Given the description of an element on the screen output the (x, y) to click on. 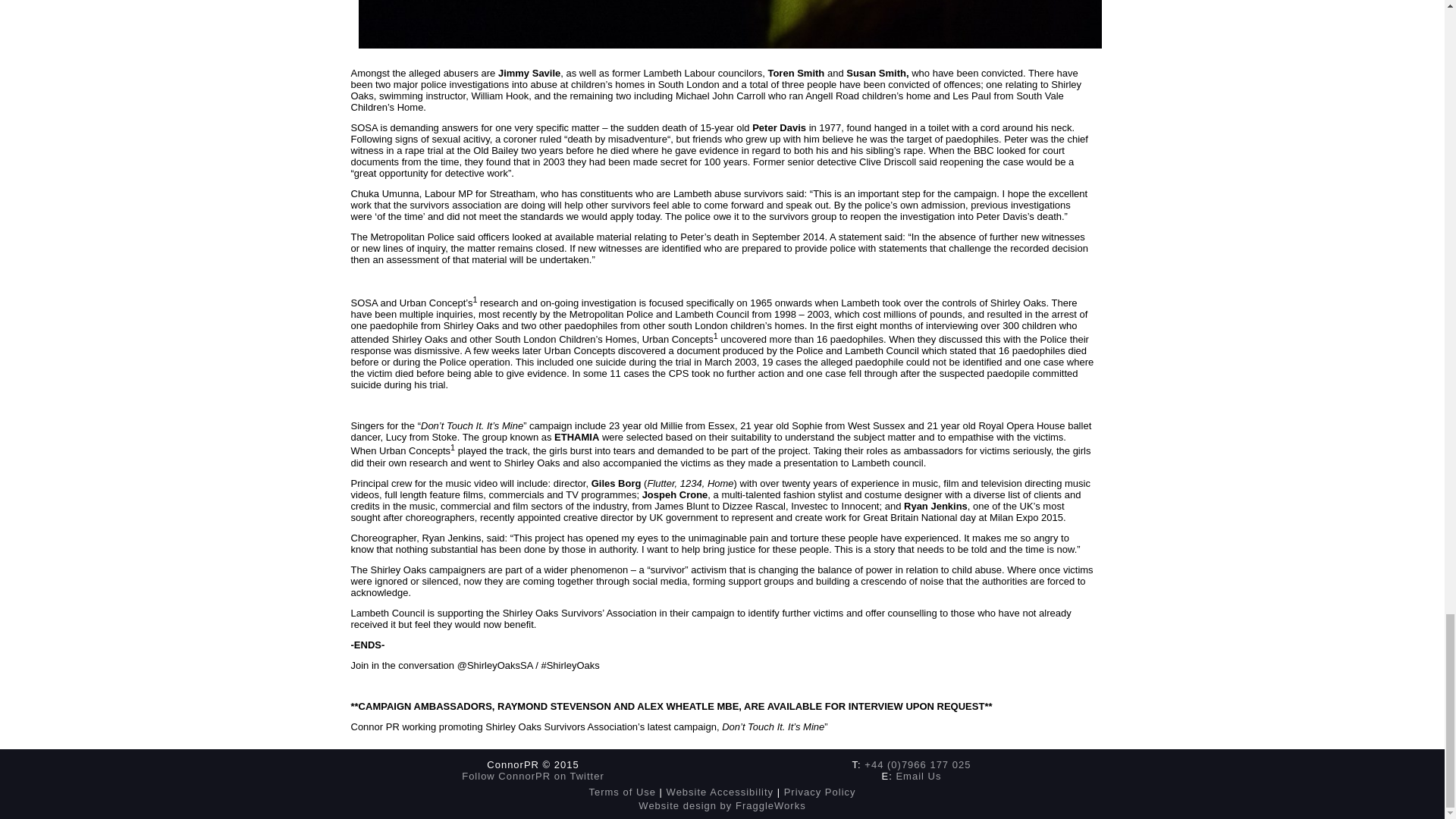
Email Us (917, 776)
Email Us (917, 776)
Follow ConnorPR on Twitter (532, 776)
Website design by FraggleWorks (722, 805)
Privacy Policy (820, 791)
Website Accessibility (719, 791)
Terms of Use (622, 791)
